Given the description of an element on the screen output the (x, y) to click on. 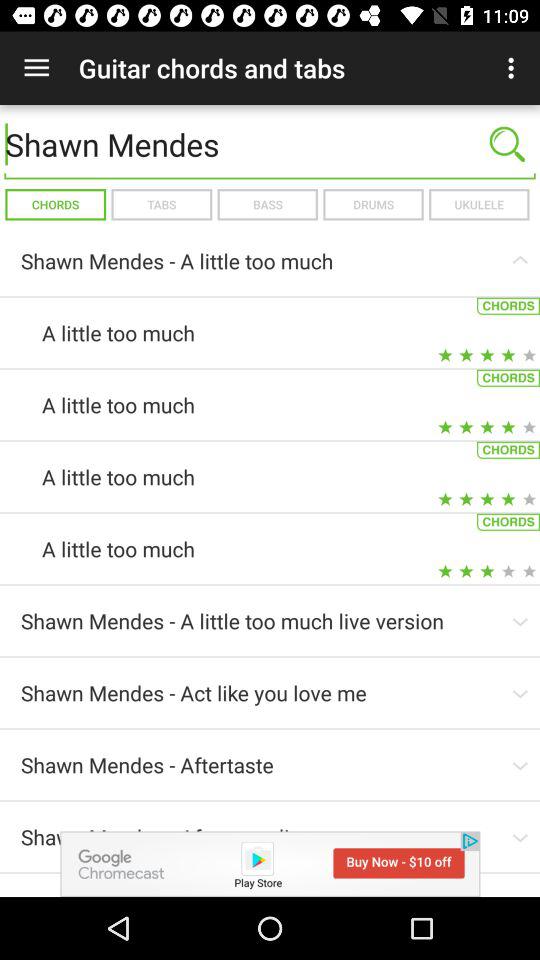
make a search (507, 144)
